Given the description of an element on the screen output the (x, y) to click on. 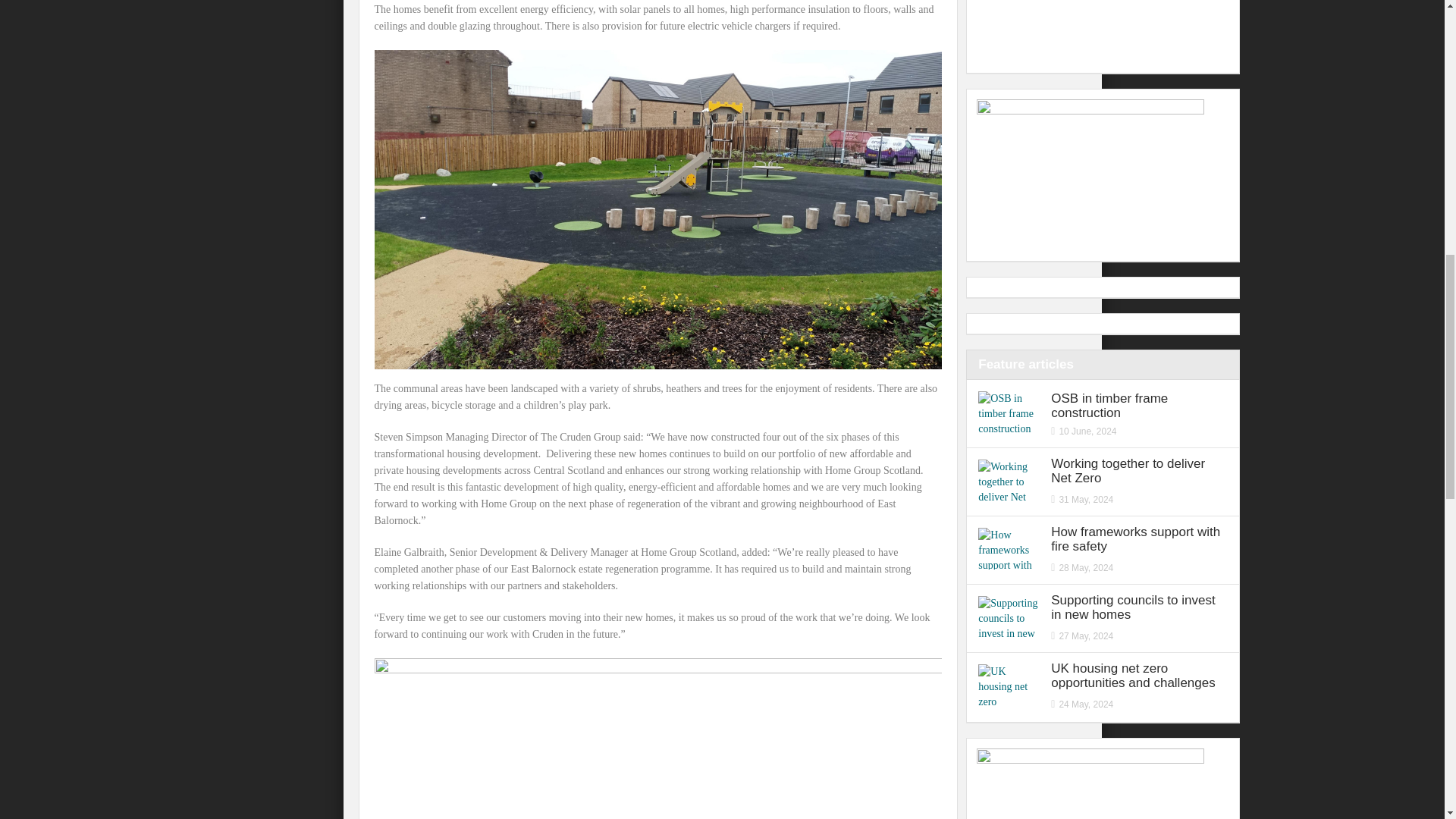
YouTube video player (1090, 31)
